Given the description of an element on the screen output the (x, y) to click on. 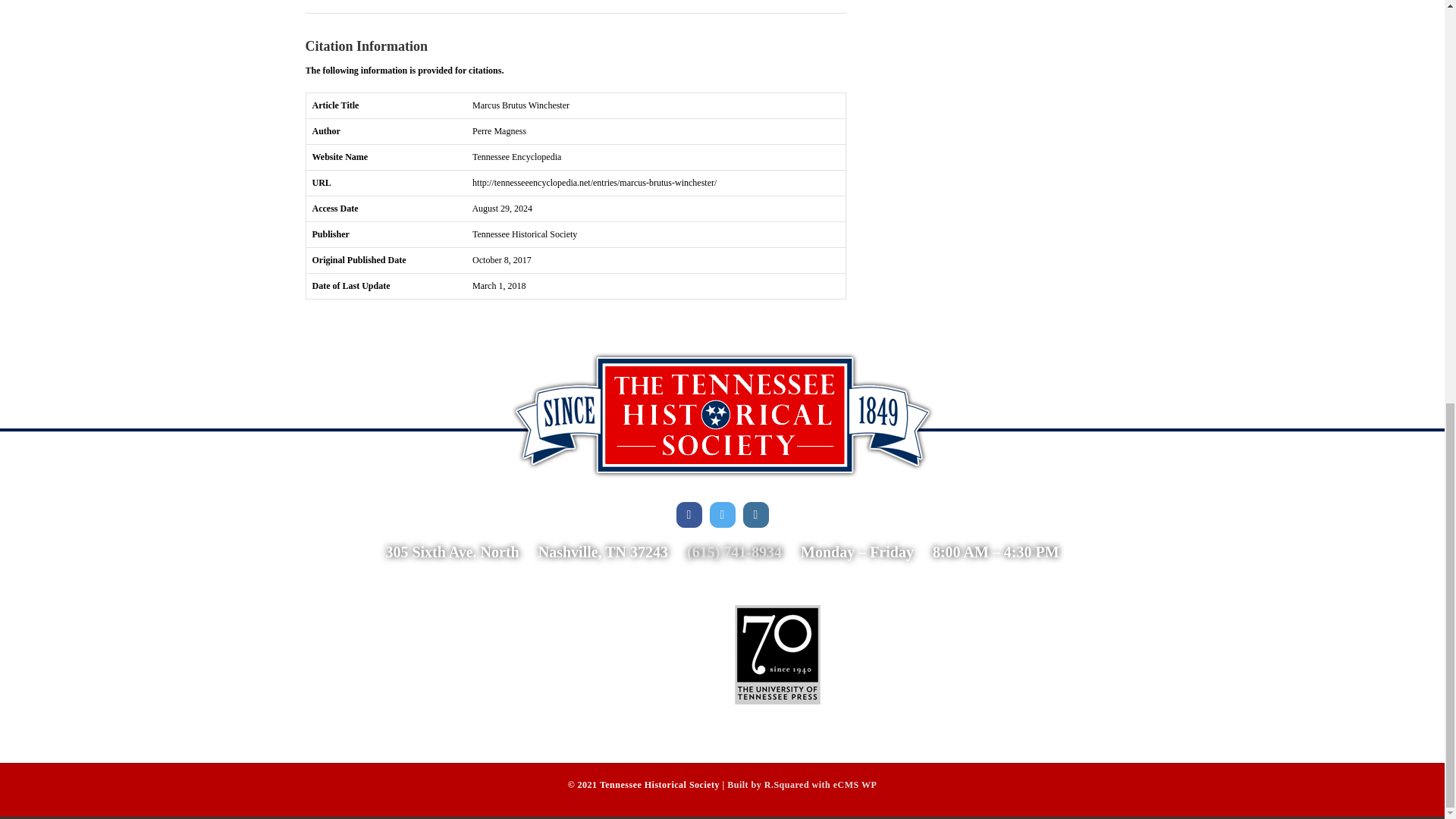
Facebook (689, 514)
Instagram (755, 514)
Twitter (722, 514)
